Given the description of an element on the screen output the (x, y) to click on. 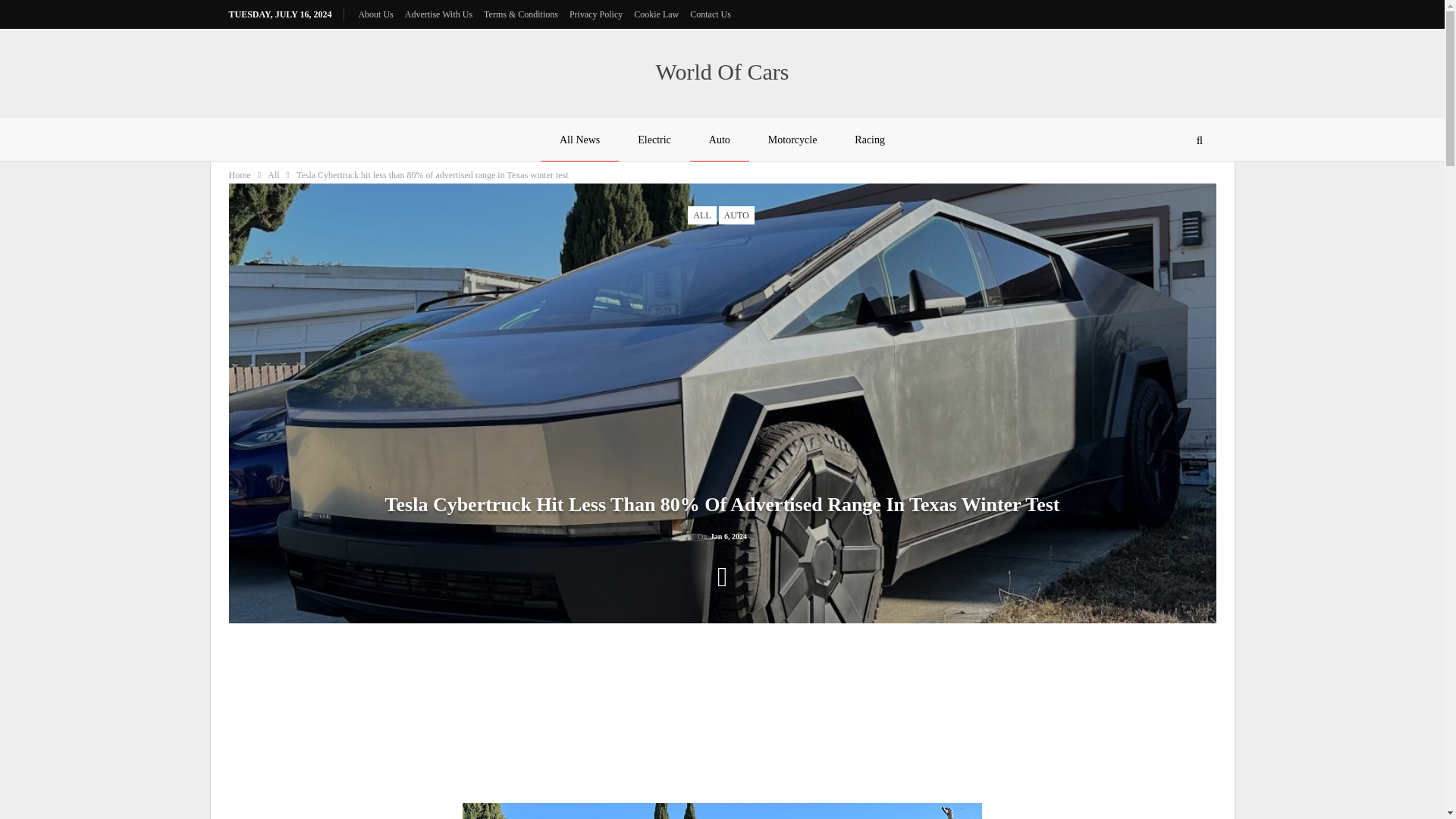
ALL (701, 215)
Cookie Law (655, 14)
About Us (375, 14)
AUTO (736, 215)
Motorcycle (792, 139)
Advertisement (1085, 717)
Privacy Policy (596, 14)
Advertise With Us (437, 14)
Home (239, 175)
Auto (719, 139)
World Of Cars (722, 71)
Advertisement (721, 717)
Racing (869, 139)
Contact Us (710, 14)
Electric (654, 139)
